Given the description of an element on the screen output the (x, y) to click on. 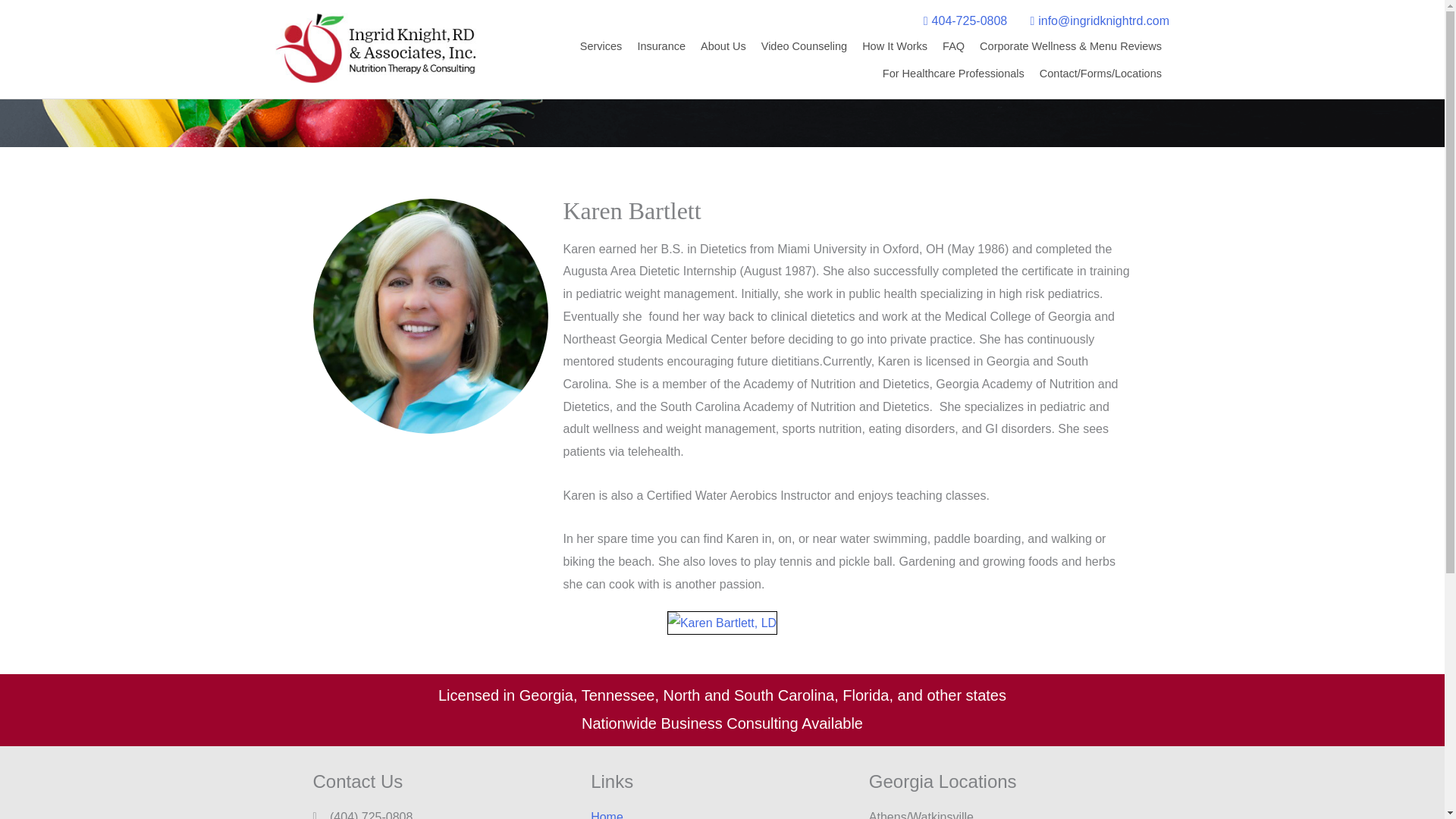
For Healthcare Professionals (953, 72)
FAQ (953, 45)
Home (722, 812)
Karen Bartlett, LD (721, 622)
How It Works (894, 45)
Insurance (660, 45)
Video Counseling (804, 45)
Services (601, 45)
About Us (723, 45)
Karen Bartlett, LD (722, 622)
